Given the description of an element on the screen output the (x, y) to click on. 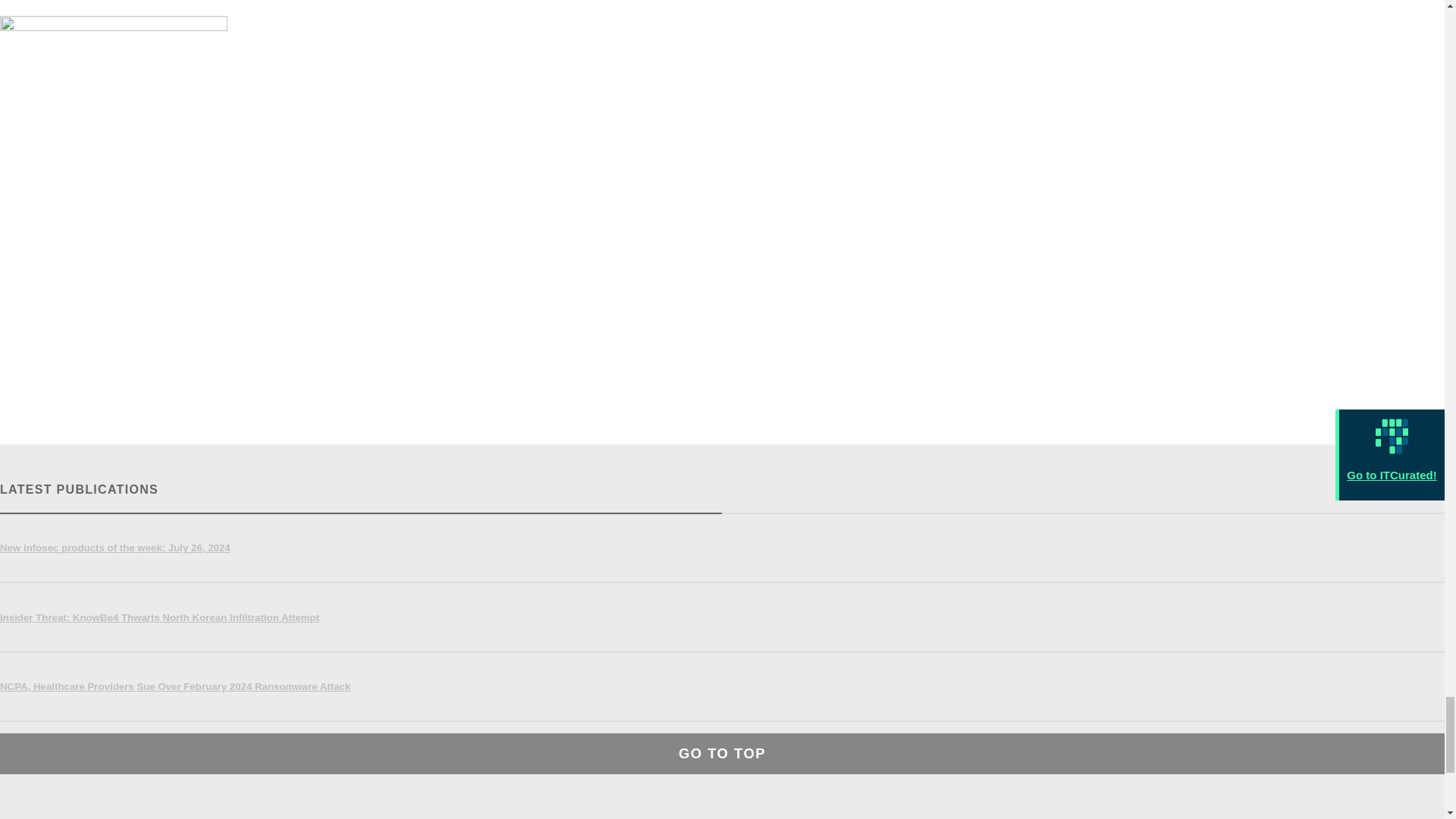
GO TO TOP (722, 753)
